Given the description of an element on the screen output the (x, y) to click on. 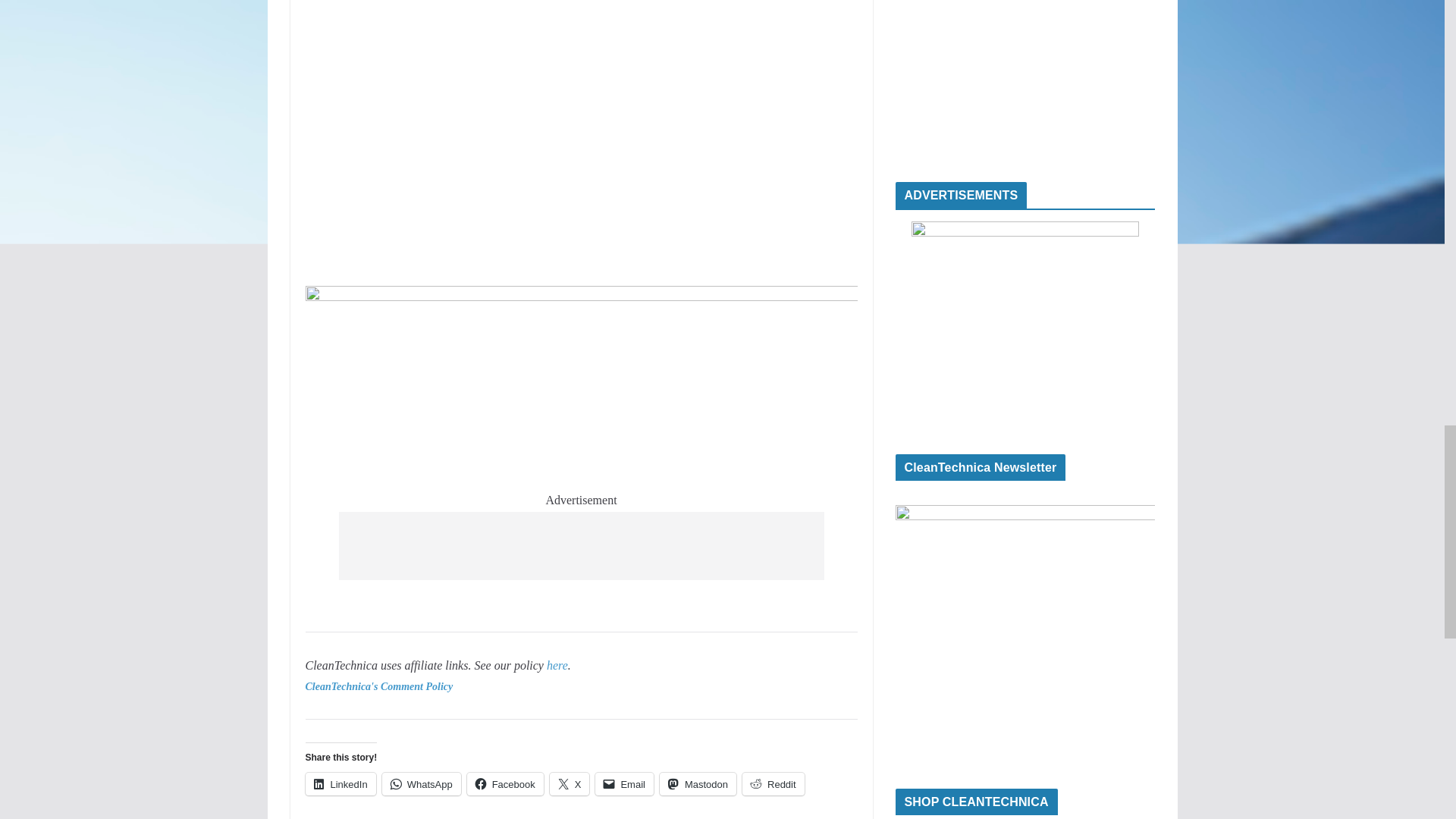
Click to share on X (569, 784)
Click to share on Facebook (505, 784)
Click to email a link to a friend (624, 784)
Click to share on Mastodon (697, 784)
Click to share on Reddit (773, 784)
Click to share on WhatsApp (421, 784)
Click to share on LinkedIn (339, 784)
